Given the description of an element on the screen output the (x, y) to click on. 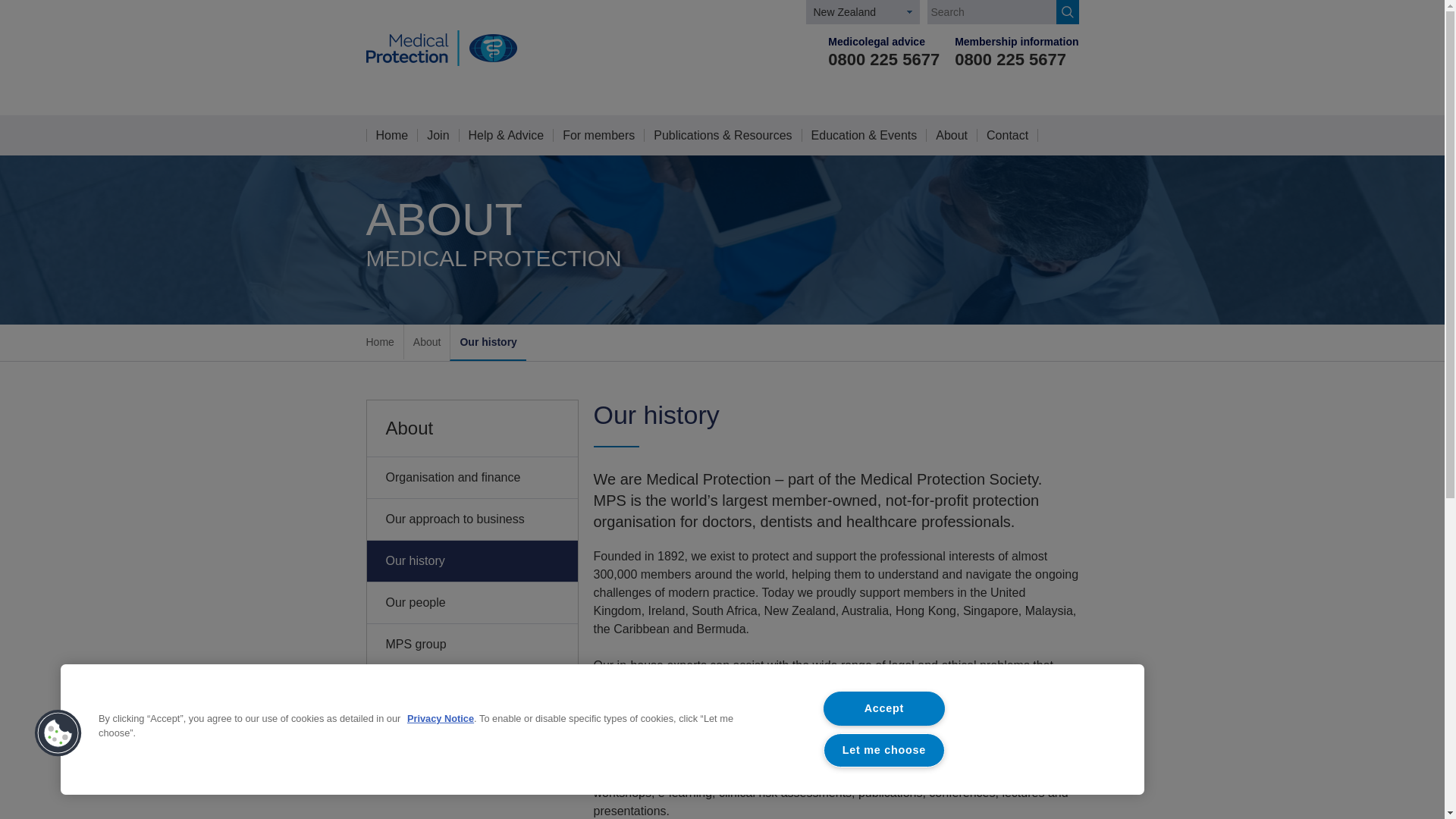
Home (379, 341)
Cookies Button (57, 733)
About (427, 341)
Our history (488, 341)
